Given the description of an element on the screen output the (x, y) to click on. 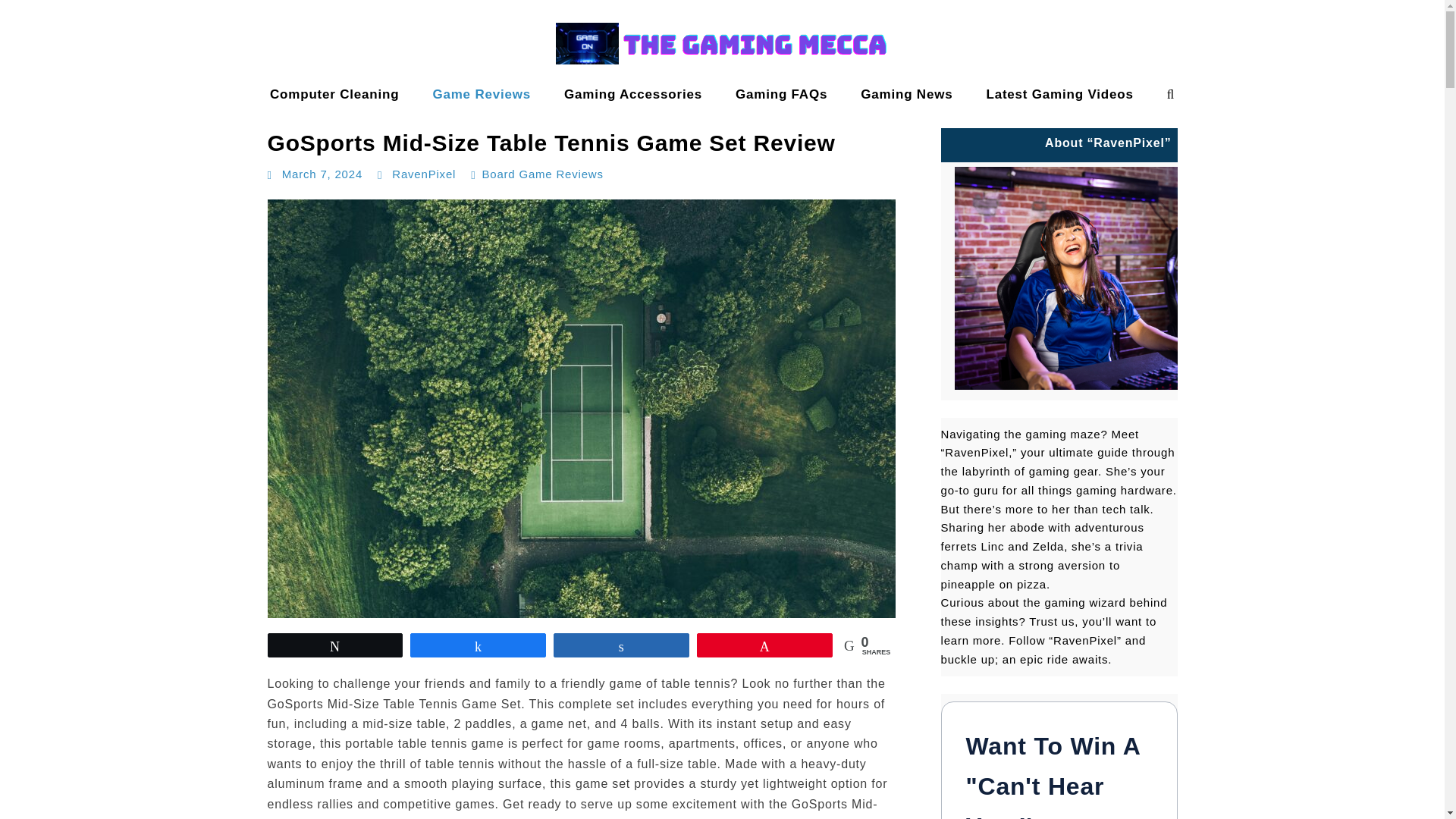
Game Reviews (480, 94)
Computer Cleaning (333, 94)
The Gaming Mecca (74, 109)
Gaming Accessories (633, 94)
Latest Gaming Videos (1059, 94)
Board Game Reviews (541, 173)
RavenPixel (423, 173)
Gaming FAQs (781, 94)
Gaming News (906, 94)
